Given the description of an element on the screen output the (x, y) to click on. 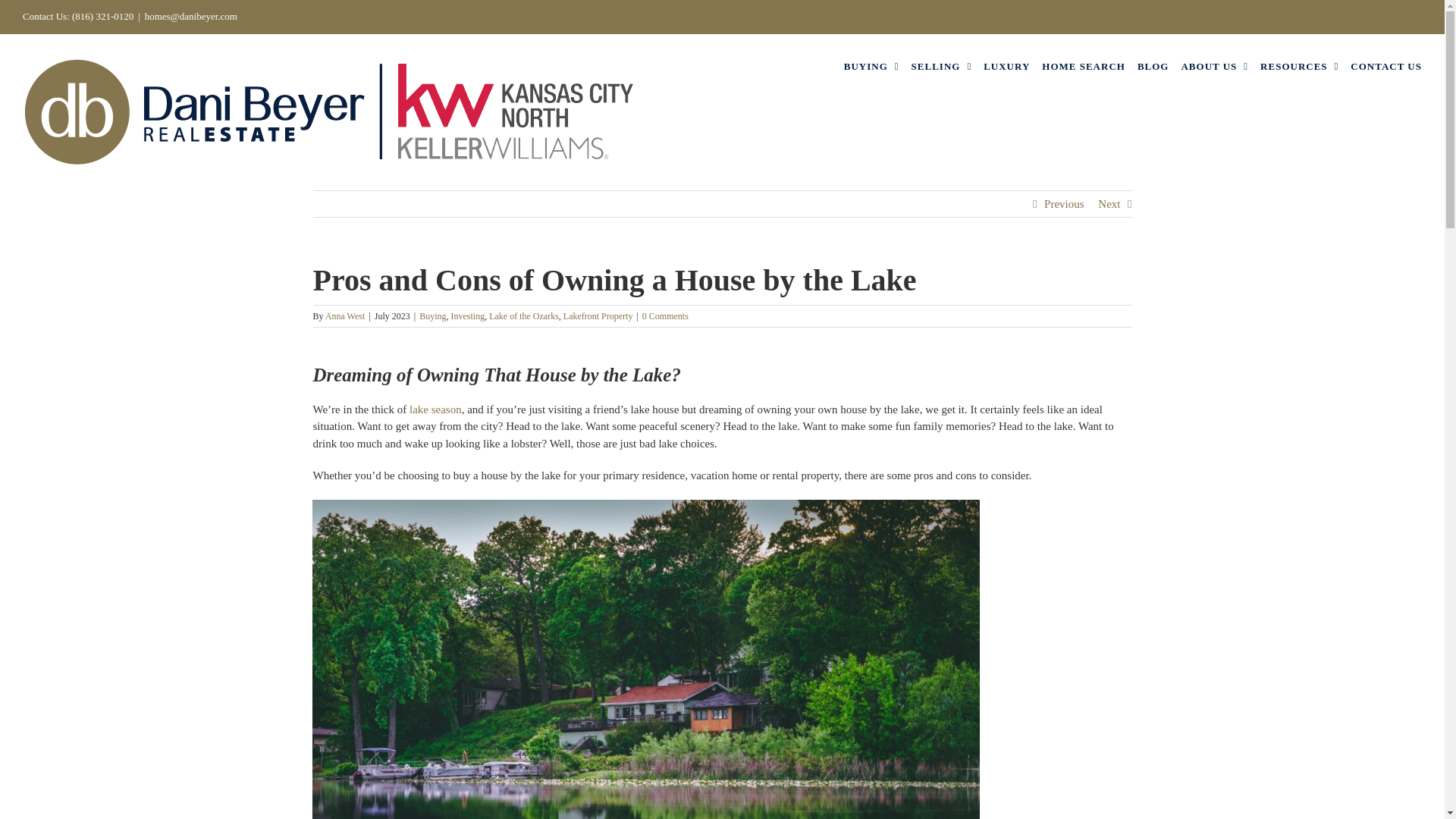
SELLING (941, 65)
RESOURCES (1299, 65)
CONTACT US (1386, 65)
HOME SEARCH (1083, 65)
ABOUT US (1213, 65)
